Given the description of an element on the screen output the (x, y) to click on. 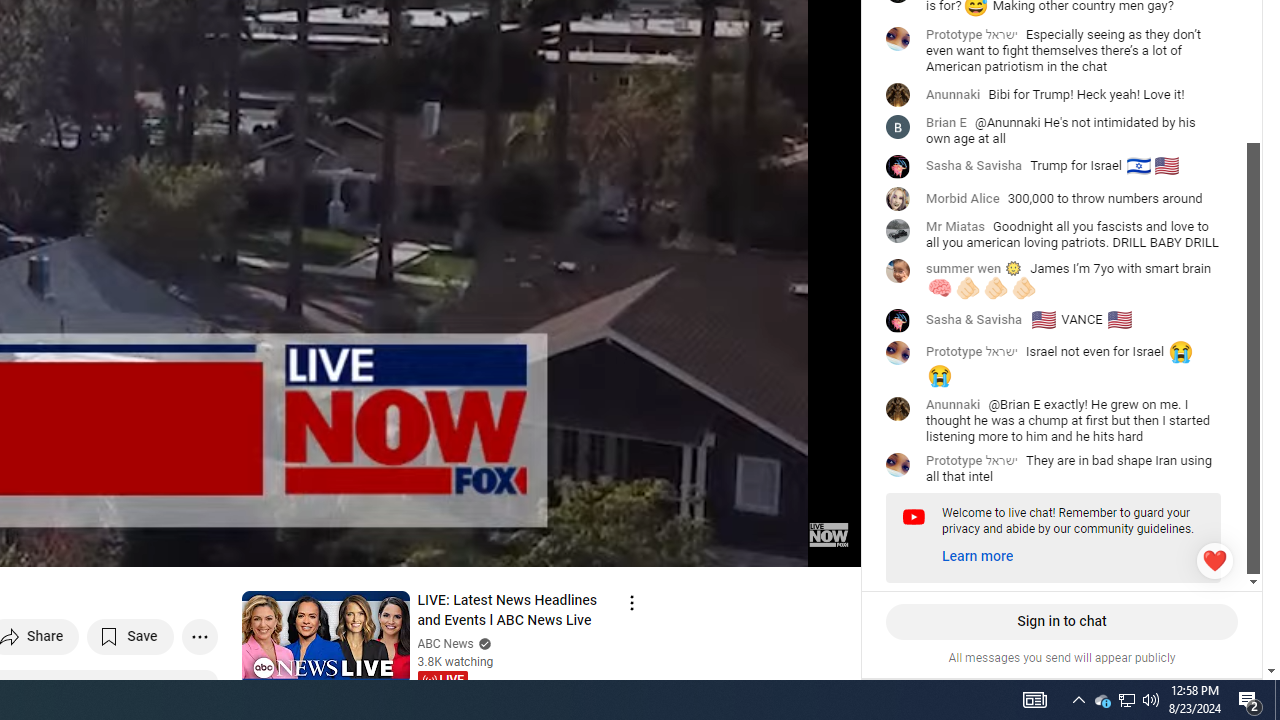
Miniplayer (i) (728, 543)
More actions (198, 636)
Full screen (f) (824, 543)
Autoplay is on (584, 543)
Action menu (631, 602)
Learn more (977, 557)
LIVE (442, 680)
Subtitles/closed captions unavailable (632, 543)
Sign in to chat (1061, 622)
